Given the description of an element on the screen output the (x, y) to click on. 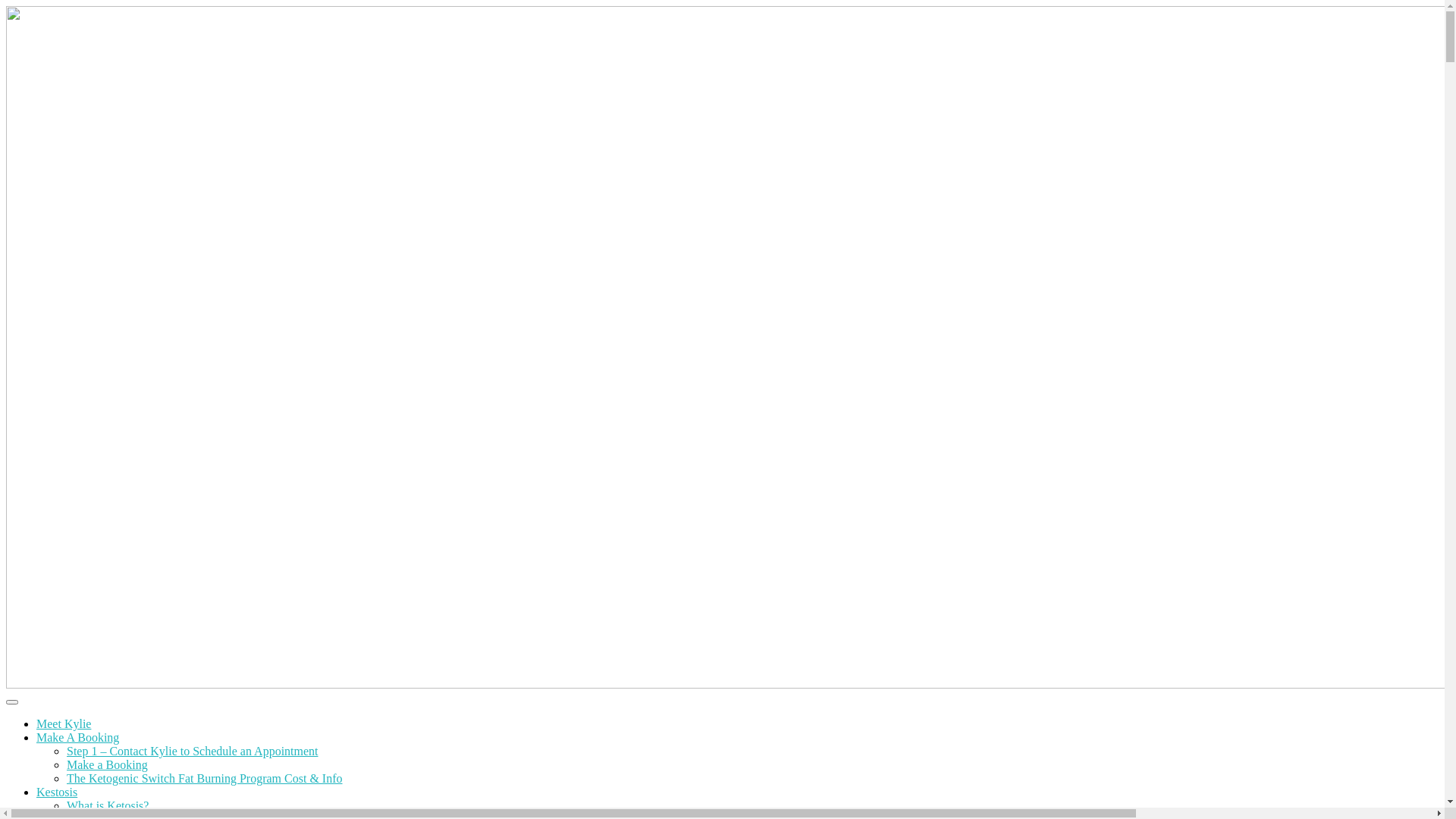
What is Ketosis? Element type: text (107, 805)
Make A Booking Element type: text (77, 737)
Make a Booking Element type: text (106, 764)
Meet Kylie Element type: text (63, 723)
Kestosis Element type: text (56, 791)
The Ketogenic Switch Fat Burning Program Cost & Info Element type: text (204, 777)
